Given the description of an element on the screen output the (x, y) to click on. 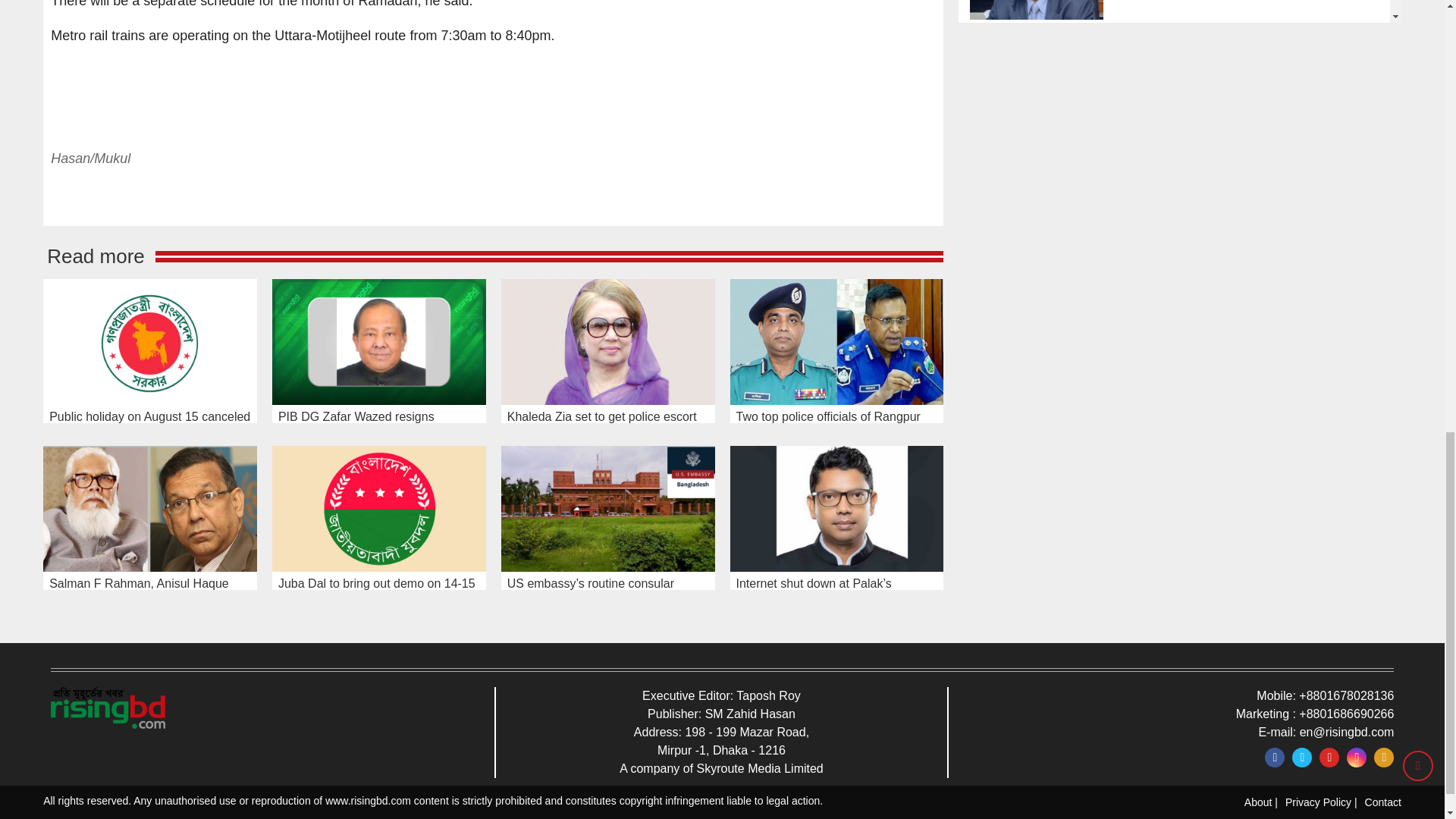
Public holiday on August 15 canceled (150, 341)
Khaleda Zia set to get police escort (607, 341)
Salman F Rahman, Anisul Haque arrested (150, 507)
